Given the description of an element on the screen output the (x, y) to click on. 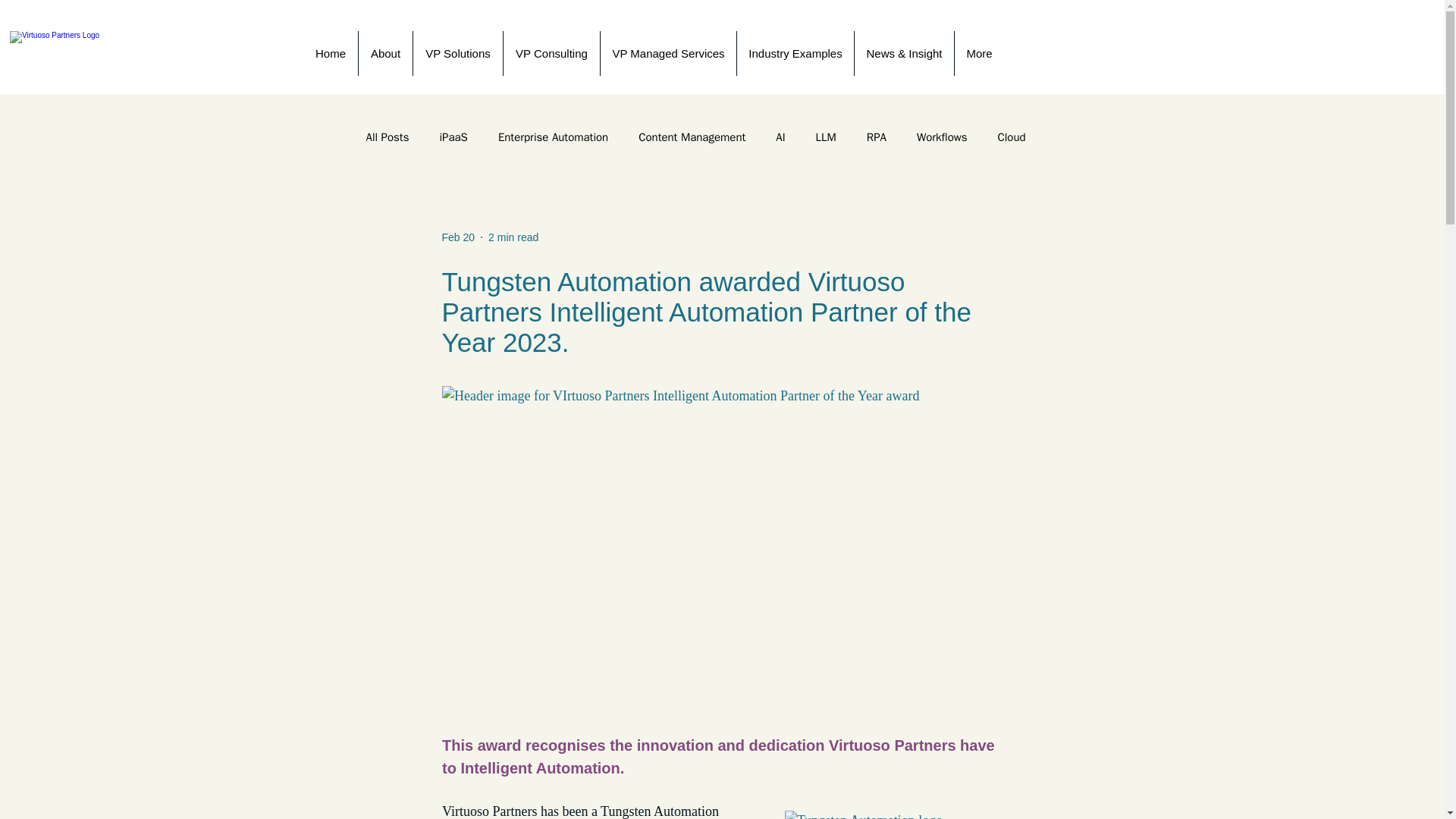
Enterprise Automation (552, 137)
LLM (825, 137)
All Posts (387, 137)
VP Managed Services (667, 53)
Cloud (1011, 137)
Content Management (692, 137)
VP Solutions (457, 53)
Feb 20 (457, 236)
VP Consulting (550, 53)
iPaaS (453, 137)
